Given the description of an element on the screen output the (x, y) to click on. 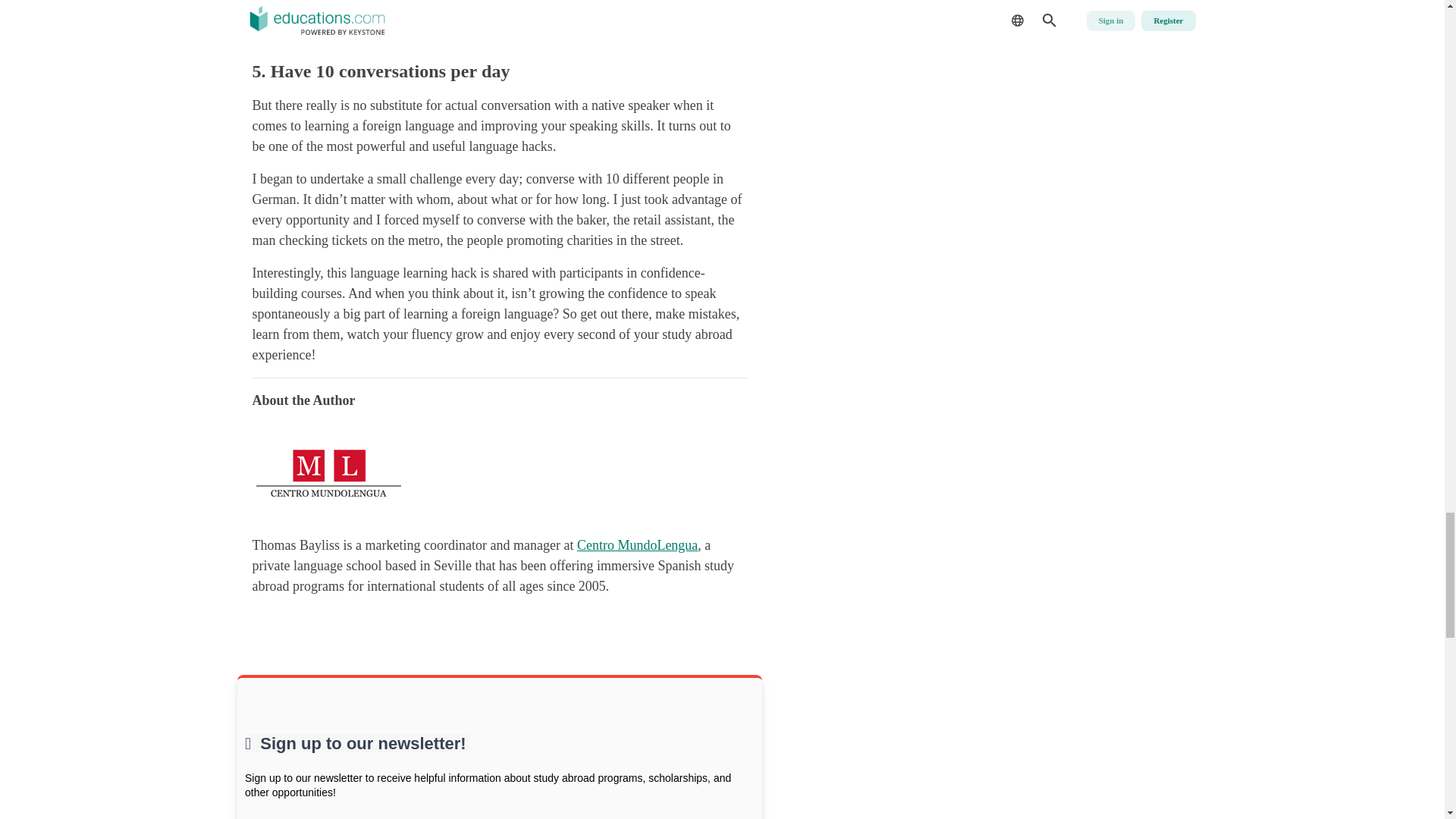
Centro MundoLengua (636, 544)
